Given the description of an element on the screen output the (x, y) to click on. 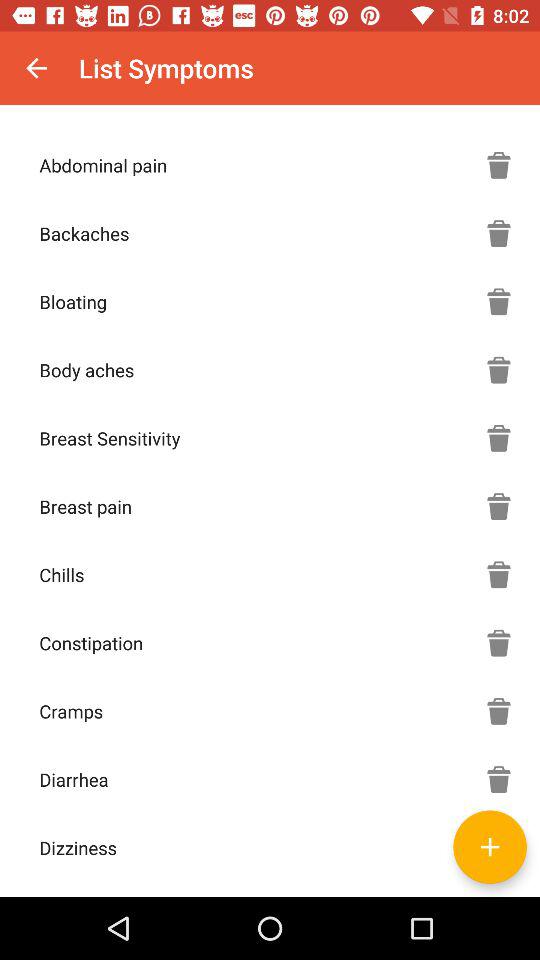
delete the option (499, 643)
